Given the description of an element on the screen output the (x, y) to click on. 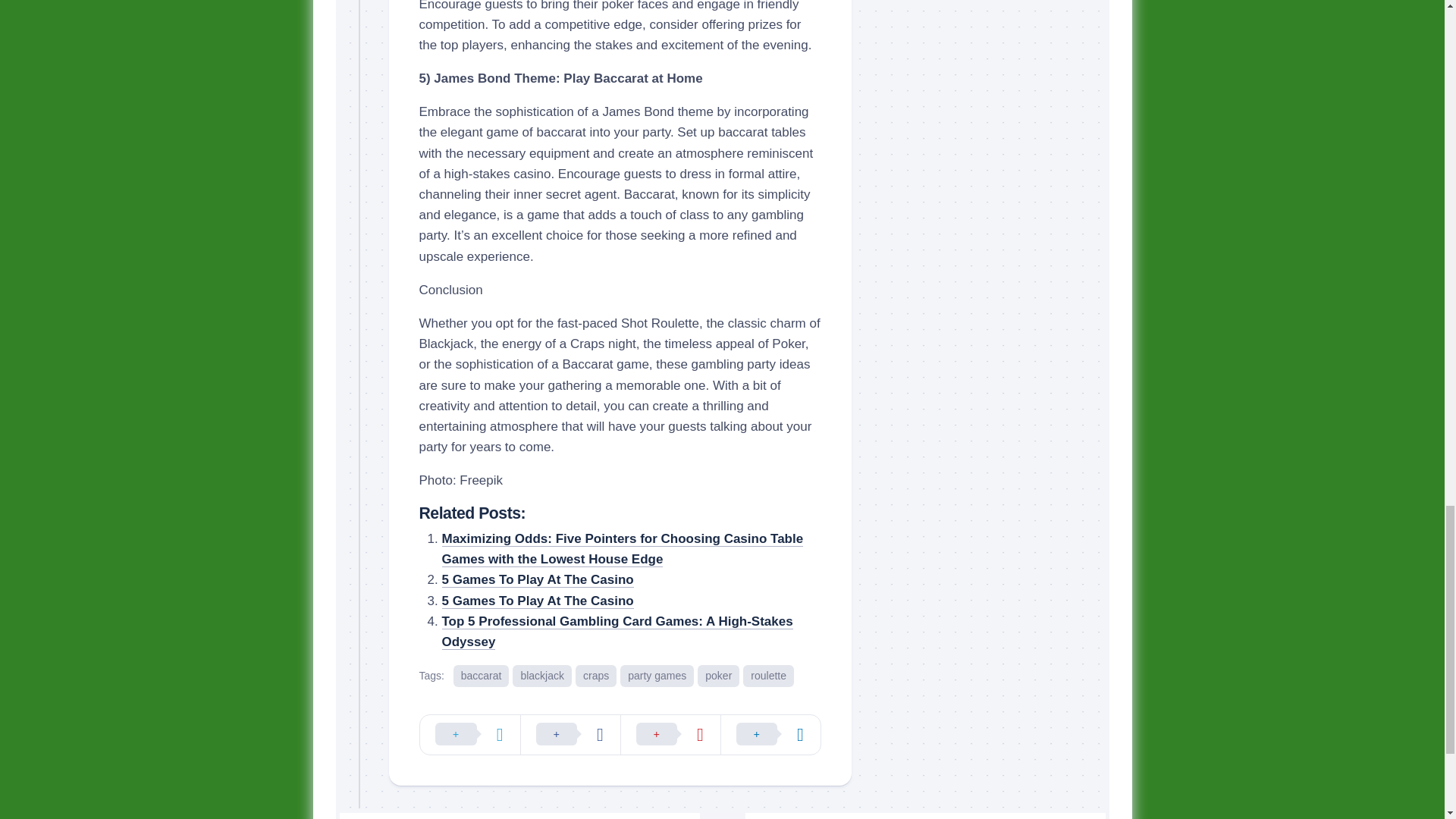
5 Games To Play At The Casino (537, 579)
roulette (767, 676)
Share on Pinterest (670, 734)
Share on Facebook (569, 734)
5 Games To Play At The Casino (537, 600)
poker (718, 676)
baccarat (480, 676)
5 Games To Play At The Casino (537, 600)
Share on LinkedIn (770, 734)
blackjack (542, 676)
craps (595, 676)
Share on X (469, 734)
